Given the description of an element on the screen output the (x, y) to click on. 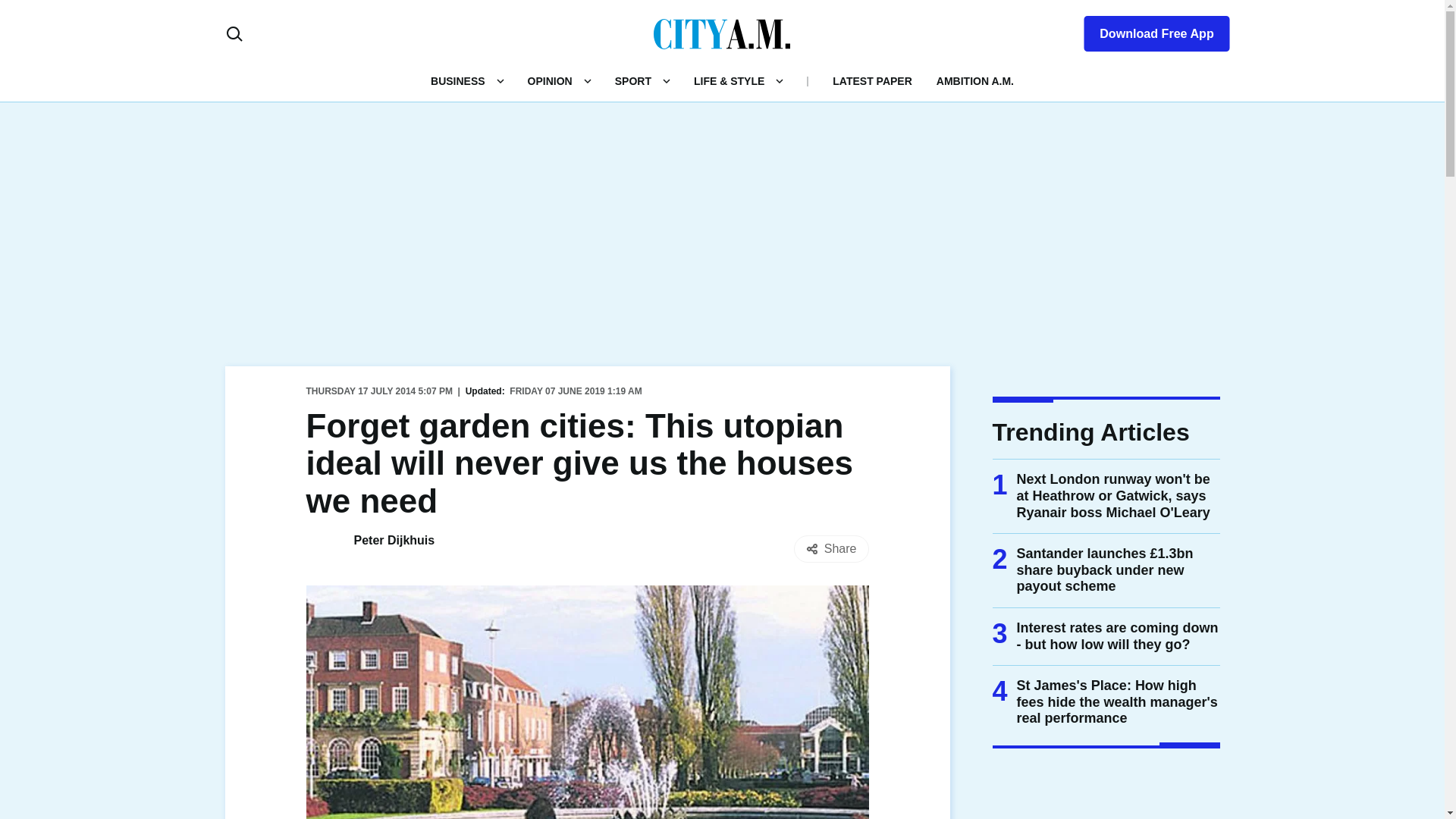
BUSINESS (457, 80)
Download Free App (1146, 30)
CityAM (721, 33)
SPORT (632, 80)
OPINION (549, 80)
